Given the description of an element on the screen output the (x, y) to click on. 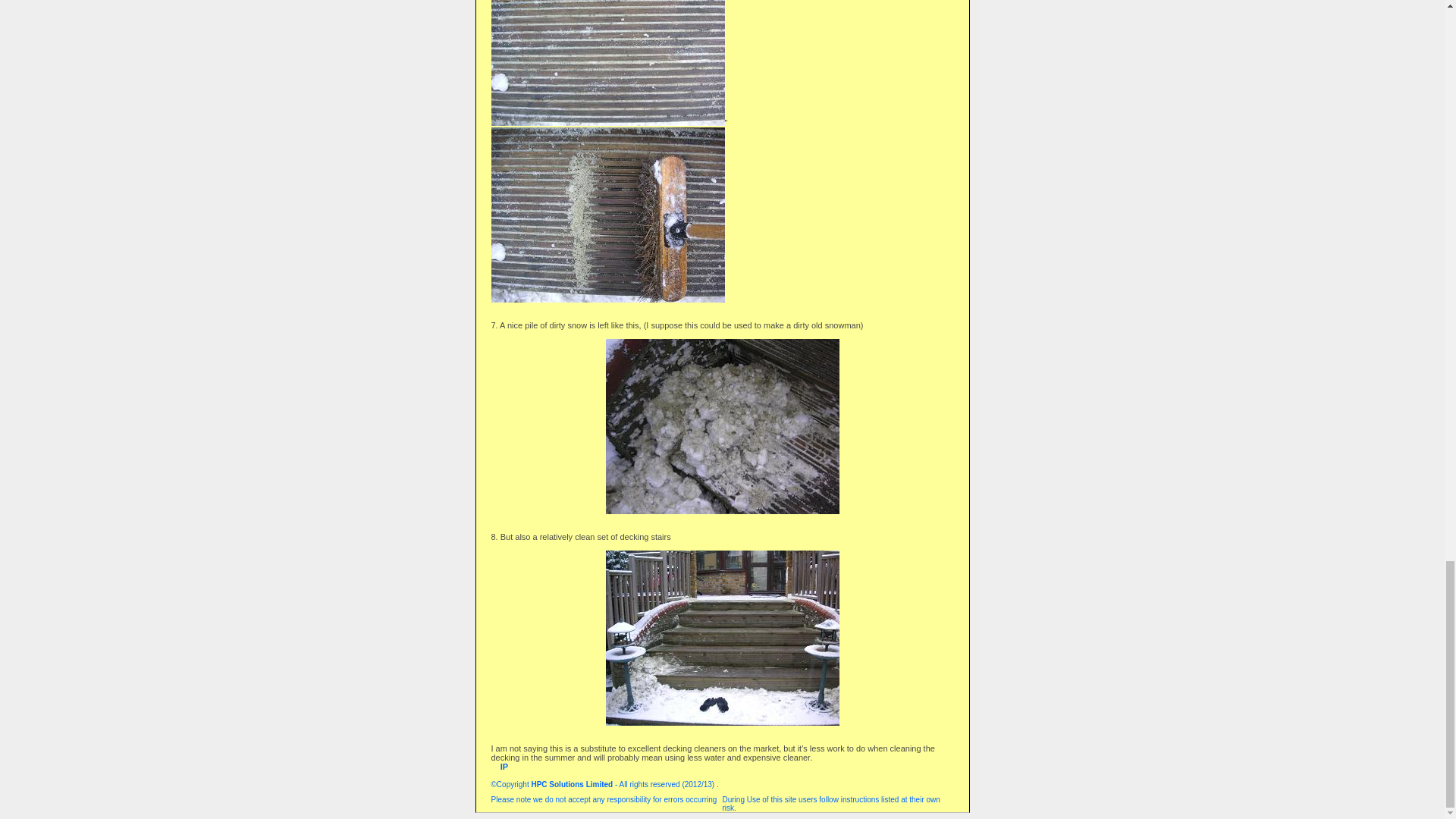
HPC Solutions Limited (571, 784)
visit developer website (571, 784)
